Given the description of an element on the screen output the (x, y) to click on. 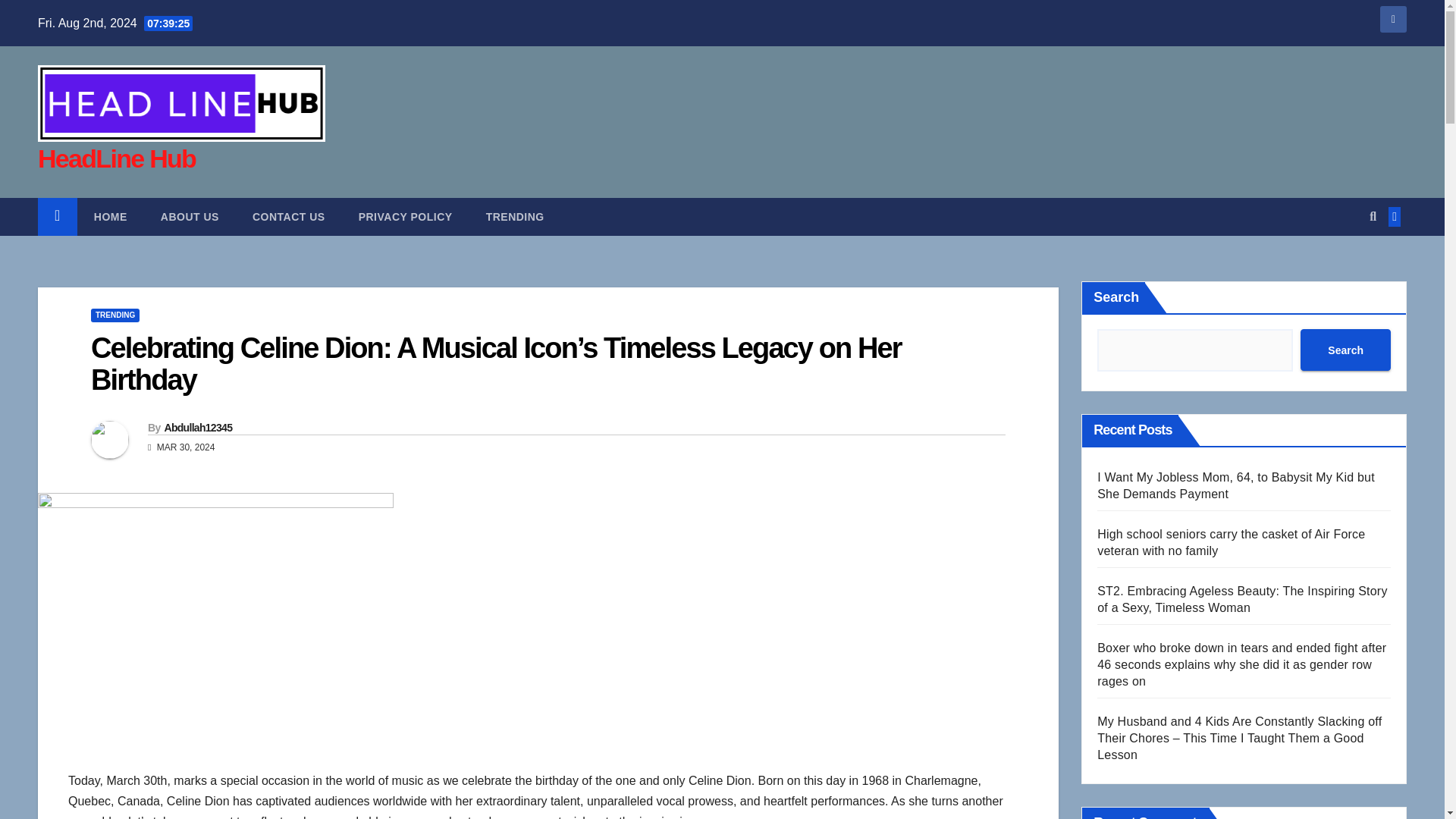
ABOUT US (189, 216)
Contact Us (288, 216)
HeadLine Hub (116, 158)
CONTACT US (288, 216)
TRENDING (514, 216)
Abdullah12345 (197, 427)
Trending (514, 216)
TRENDING (114, 315)
Privacy Policy (405, 216)
PRIVACY POLICY (405, 216)
About Us (189, 216)
HOME (110, 216)
Home (110, 216)
